Given the description of an element on the screen output the (x, y) to click on. 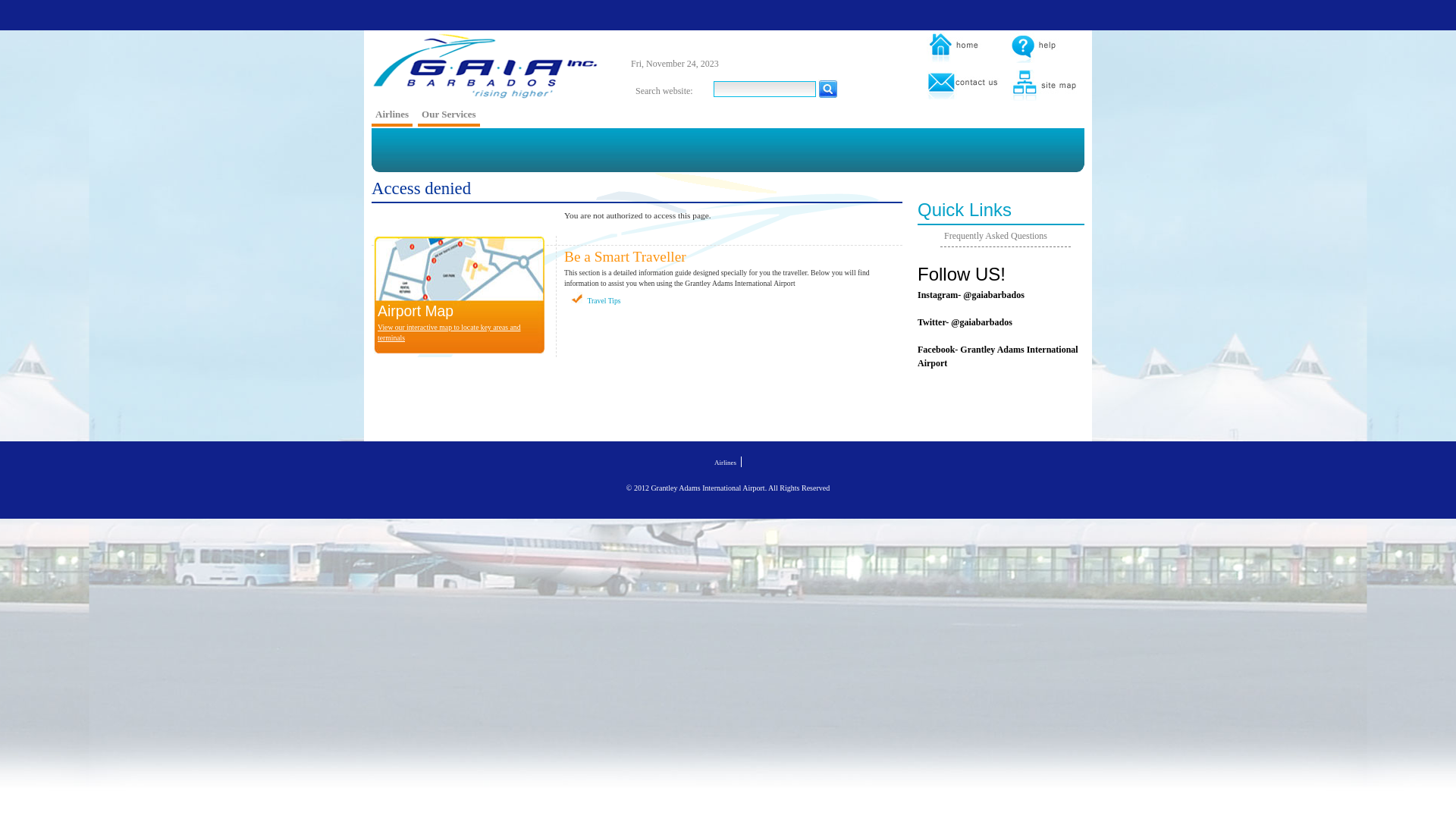
View our interactive map to locate key areas and terminals Element type: text (448, 332)
Frequently Asked Questions Element type: text (995, 235)
Skip to navigation Element type: text (390, 43)
Travel Tips Element type: text (604, 300)
Our Services Element type: text (448, 115)
Airlines Element type: text (725, 462)
Skip to main content Element type: text (384, 50)
Enter the terms you wish to search for. Element type: hover (764, 89)
Search Element type: text (827, 88)
Home Element type: hover (485, 66)
Airlines Element type: text (391, 115)
